Given the description of an element on the screen output the (x, y) to click on. 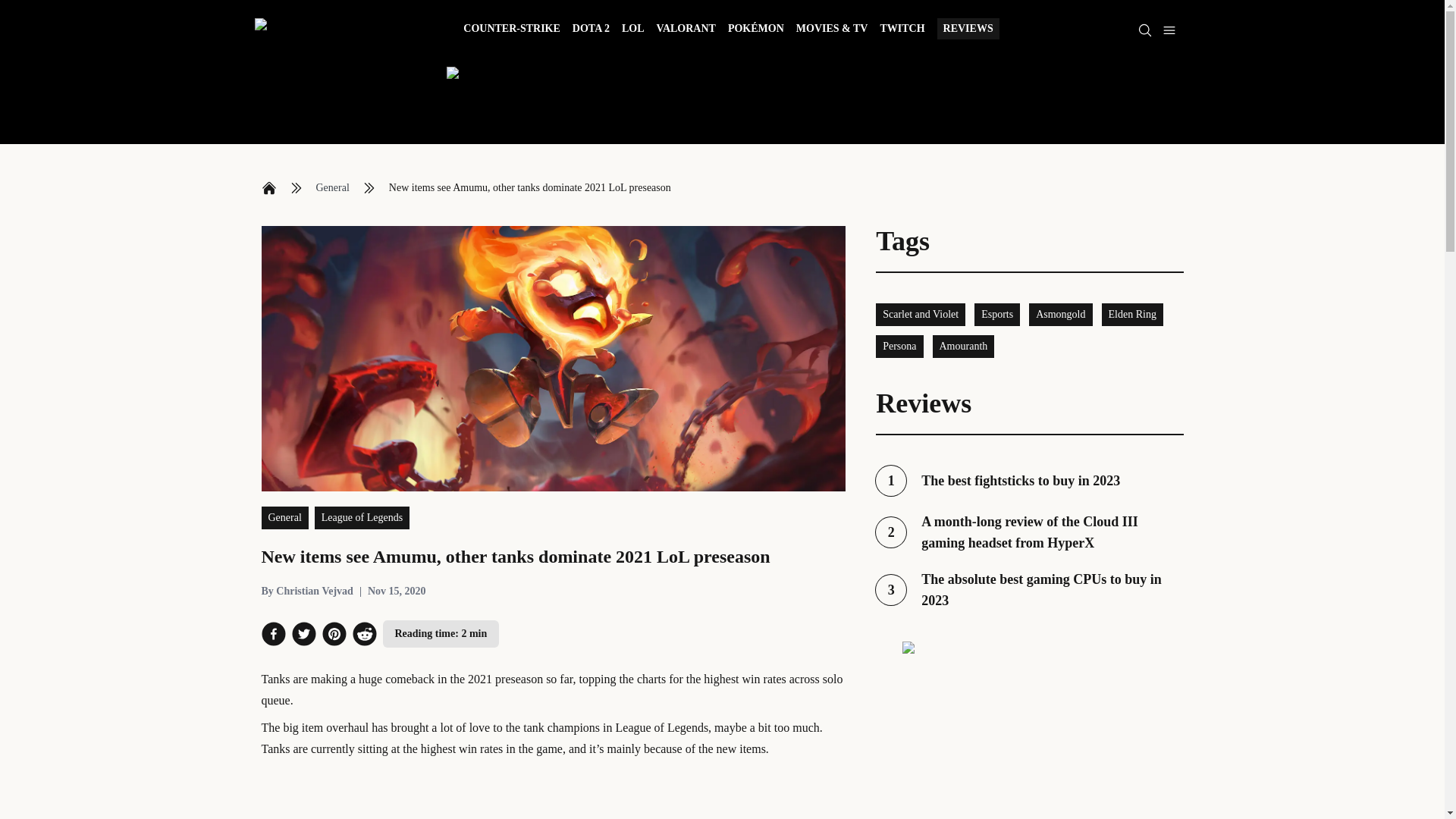
New items see Amumu, other tanks dominate 2021 LoL preseason (529, 187)
Amouranth (963, 345)
General (332, 187)
REVIEWS (1029, 589)
Home (967, 28)
COUNTER-STRIKE (268, 187)
General (511, 30)
Elden Ring (283, 517)
